Given the description of an element on the screen output the (x, y) to click on. 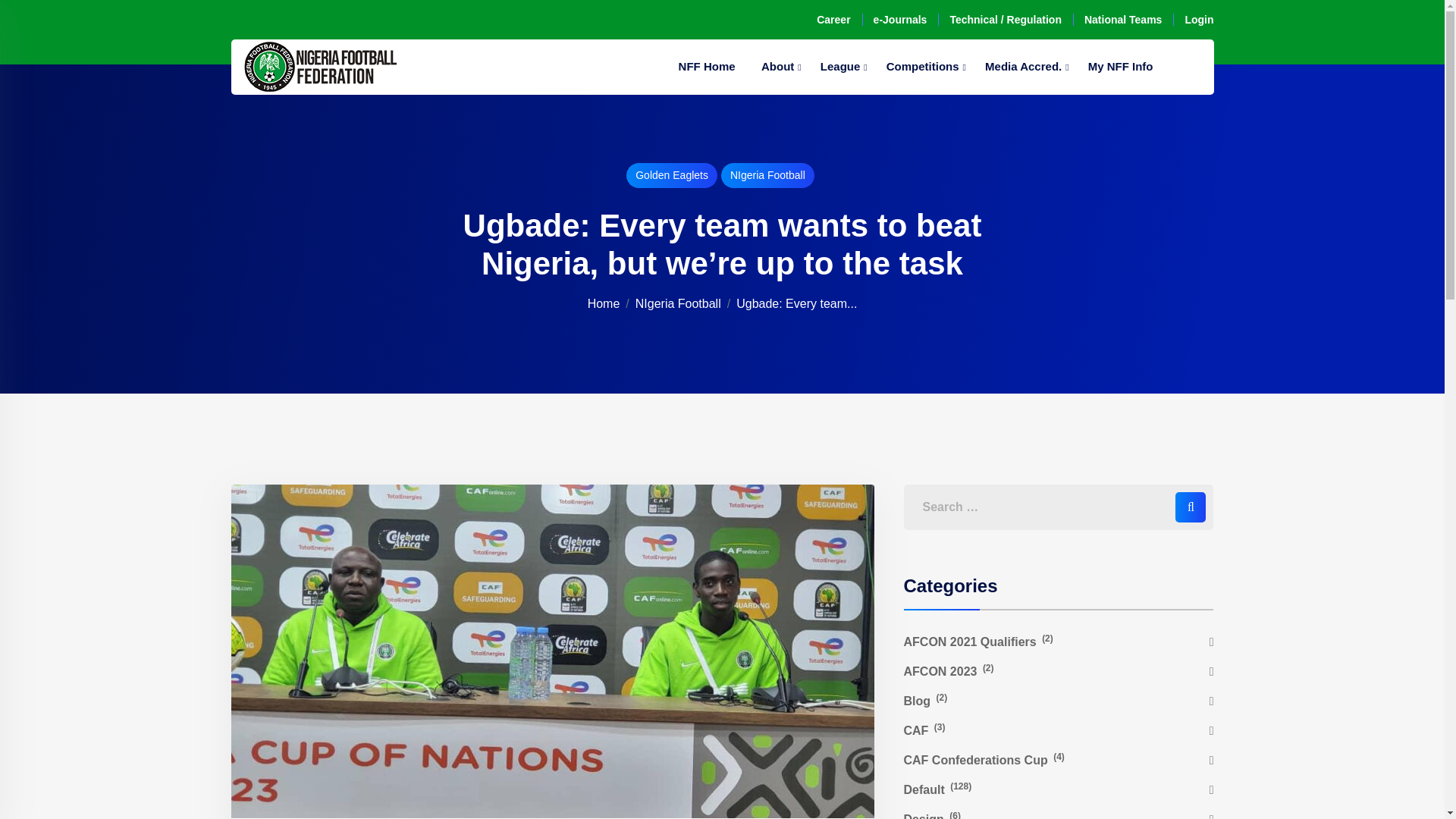
About (777, 67)
Career (833, 19)
NFF Home (706, 67)
Competitions (923, 67)
NFF Home (706, 67)
Competitions (923, 67)
National Teams (1122, 19)
League (840, 67)
My NFF Info (1120, 67)
About (777, 67)
